Given the description of an element on the screen output the (x, y) to click on. 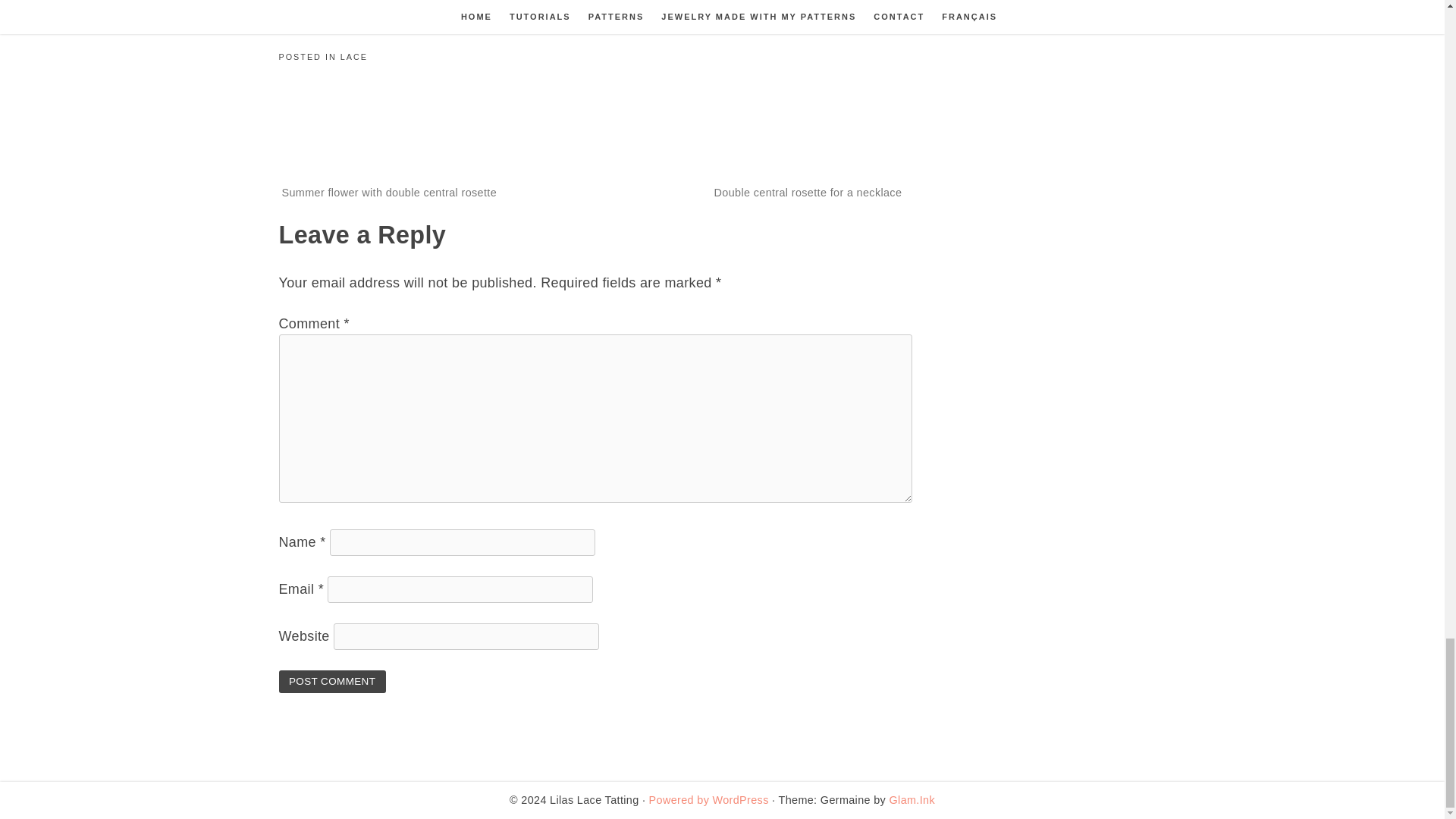
Double central rosette for a necklace (808, 193)
LACE (354, 56)
Summer flower with double central rosette (389, 193)
Post Comment (332, 681)
Post Comment (332, 681)
